Given the description of an element on the screen output the (x, y) to click on. 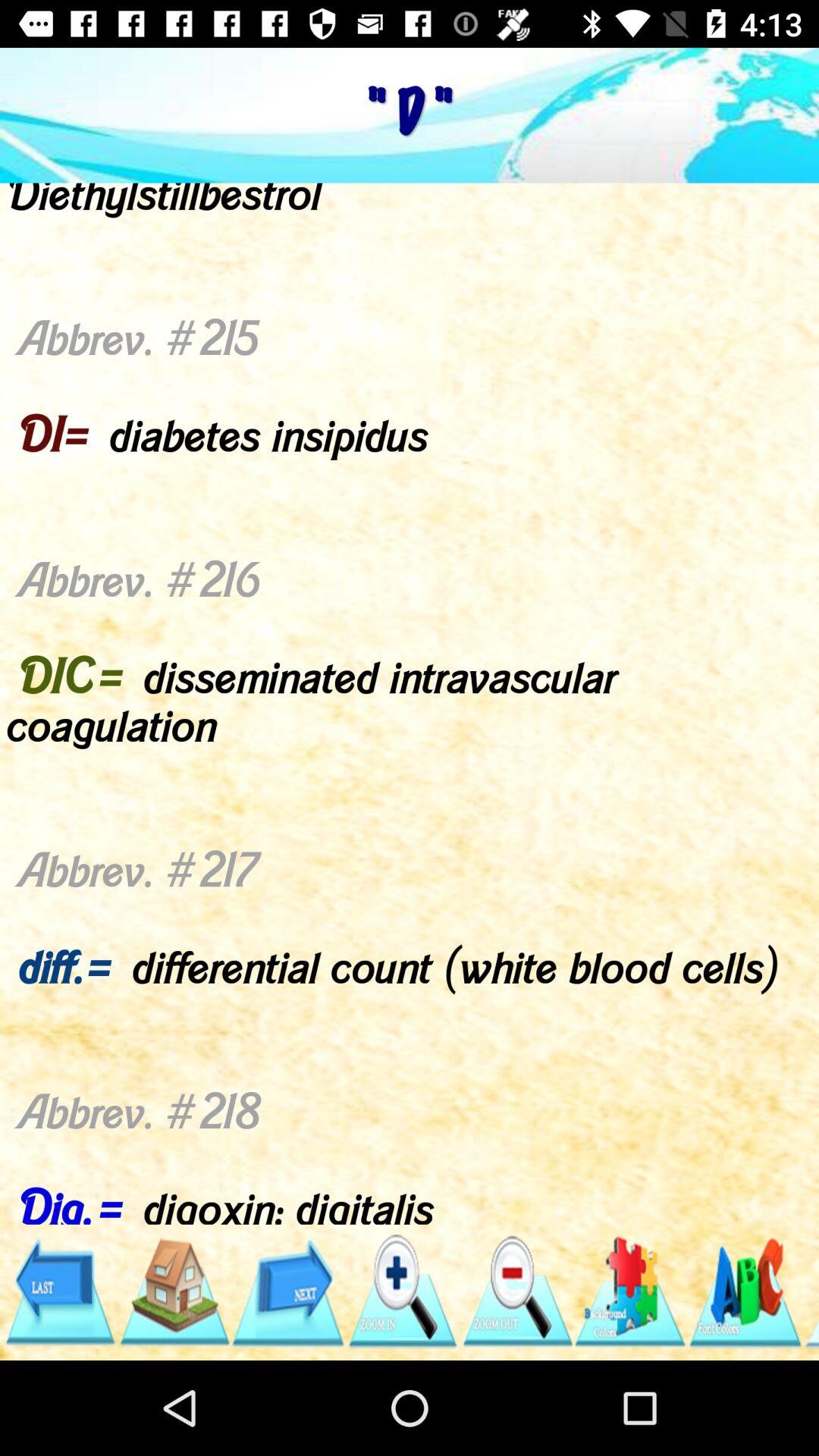
go to home page (173, 1291)
